Given the description of an element on the screen output the (x, y) to click on. 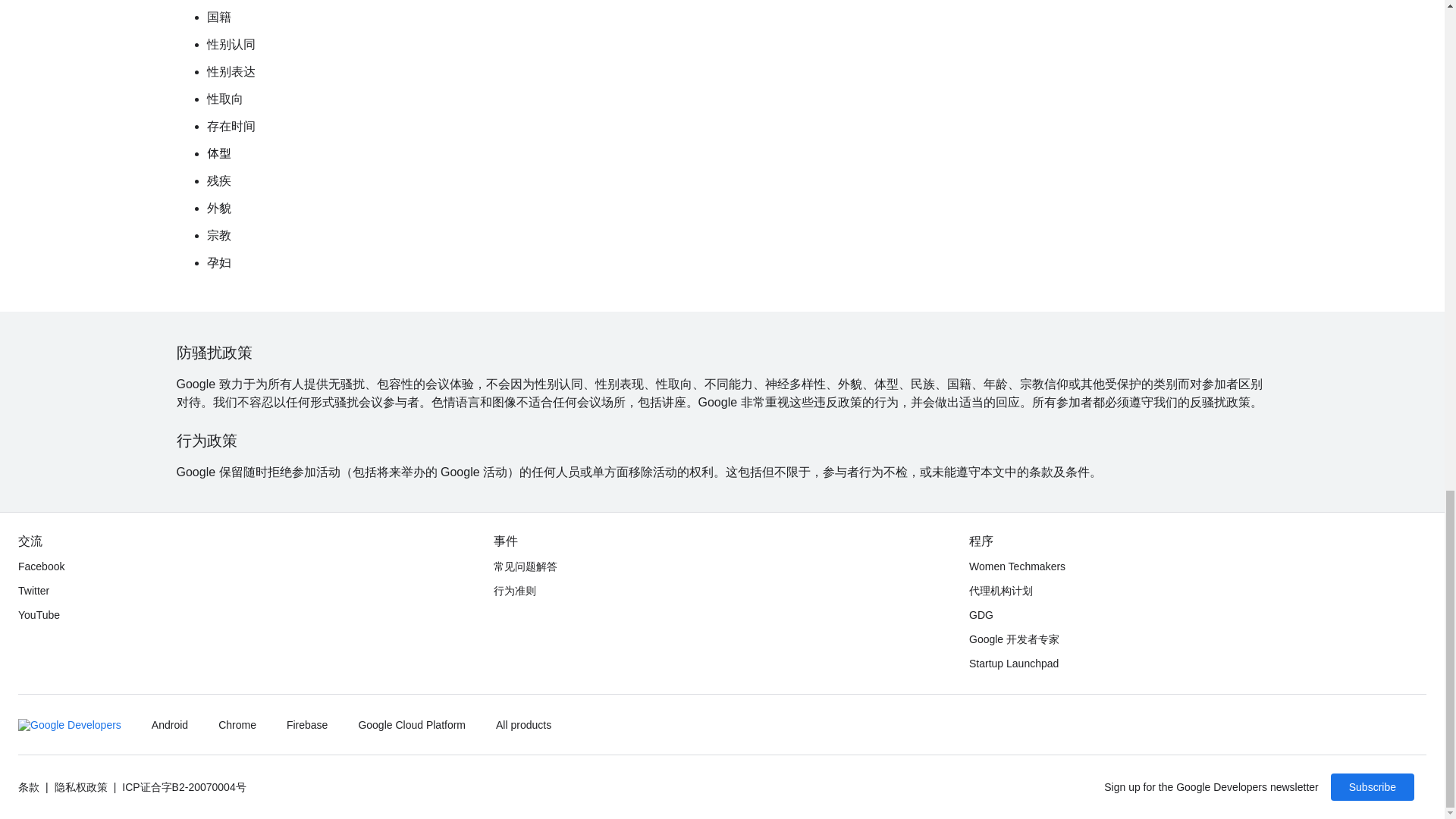
Facebook (40, 566)
YouTube (38, 614)
Twitter (33, 590)
